Given the description of an element on the screen output the (x, y) to click on. 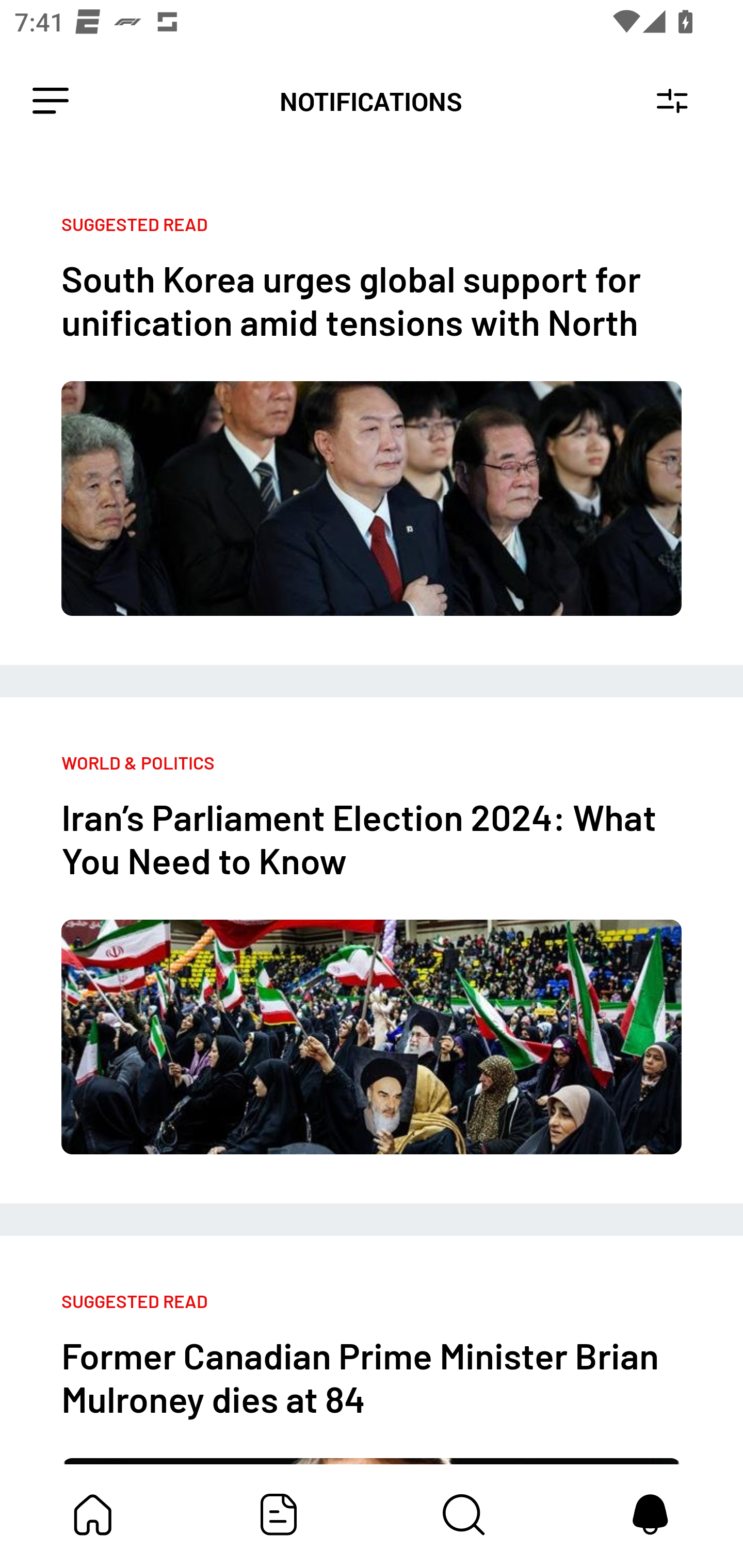
Leading Icon (50, 101)
Notification Settings (672, 101)
My Bundle (92, 1514)
Featured (278, 1514)
Content Store (464, 1514)
